Given the description of an element on the screen output the (x, y) to click on. 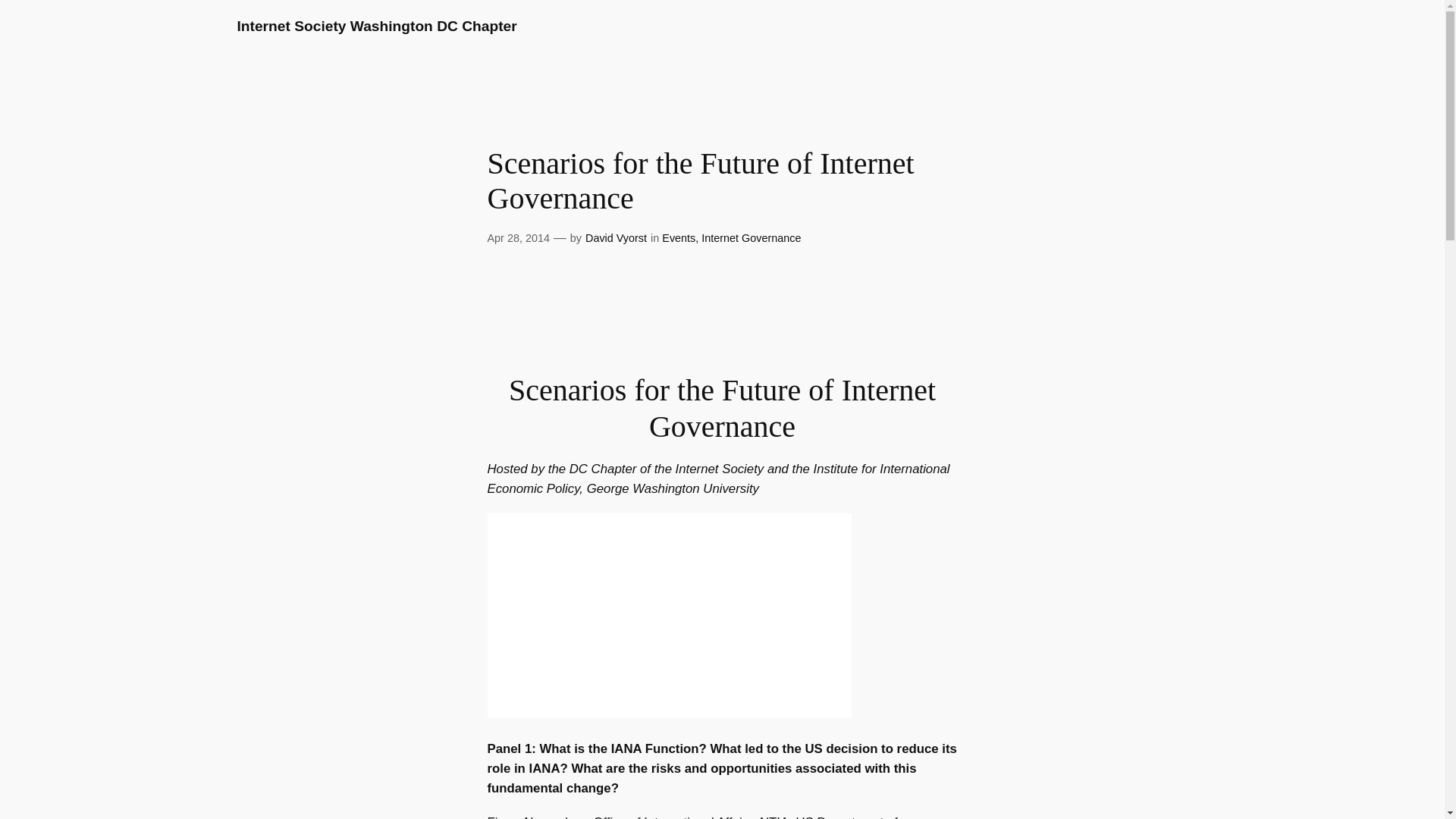
Internet Society Washington DC Chapter (375, 26)
Internet Governance (750, 237)
David Vyorst (615, 237)
Apr 28, 2014 (517, 237)
Events (678, 237)
